Given the description of an element on the screen output the (x, y) to click on. 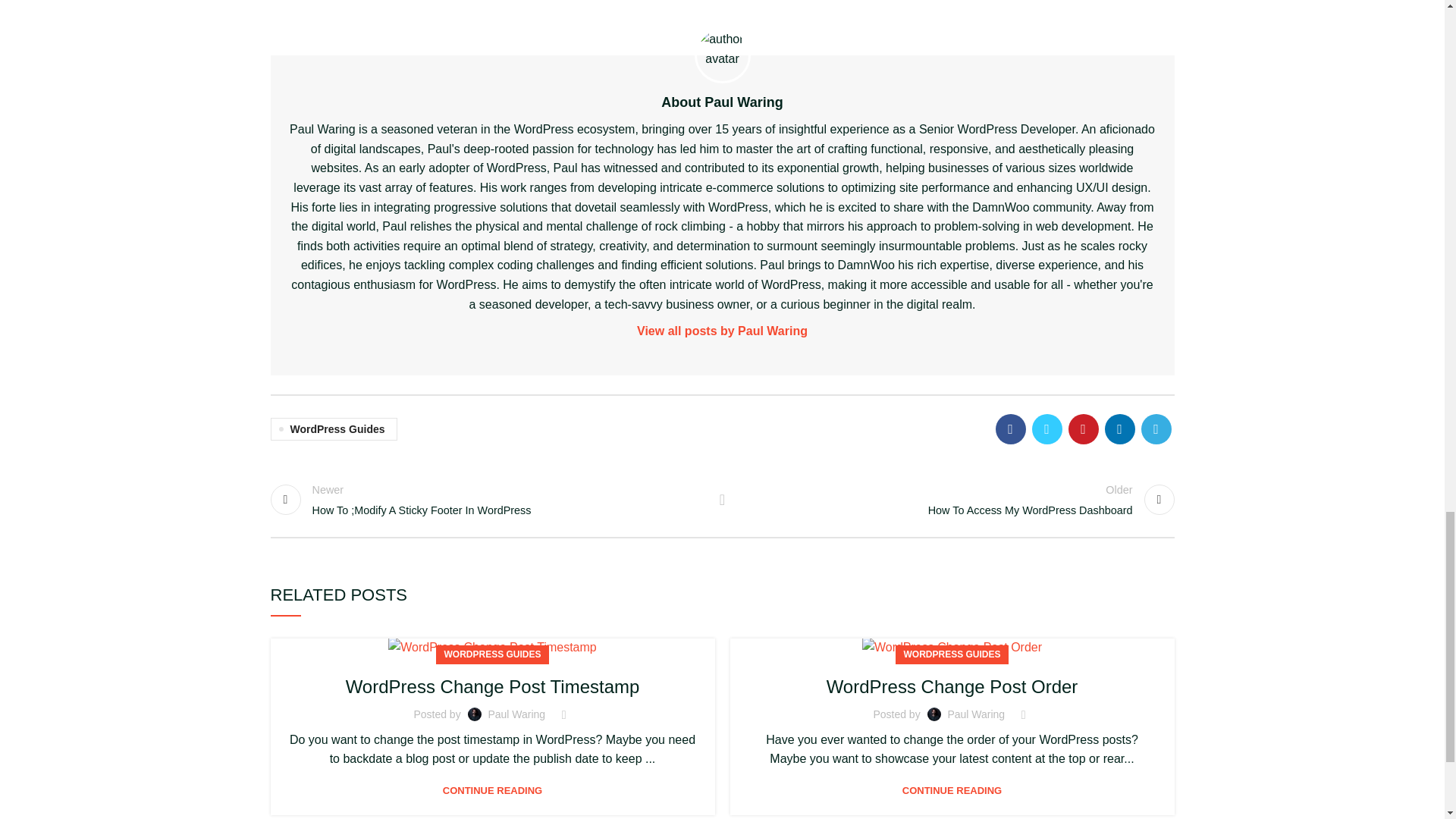
Paul Waring (515, 714)
WordPress Change Post Timestamp (493, 686)
WordPress Change Post Timestamp (491, 647)
WordPress Change Post Order (951, 647)
WORDPRESS GUIDES (492, 654)
Back to list (721, 499)
WordPress Guides (332, 428)
View all posts by Paul Waring (955, 499)
